Given the description of an element on the screen output the (x, y) to click on. 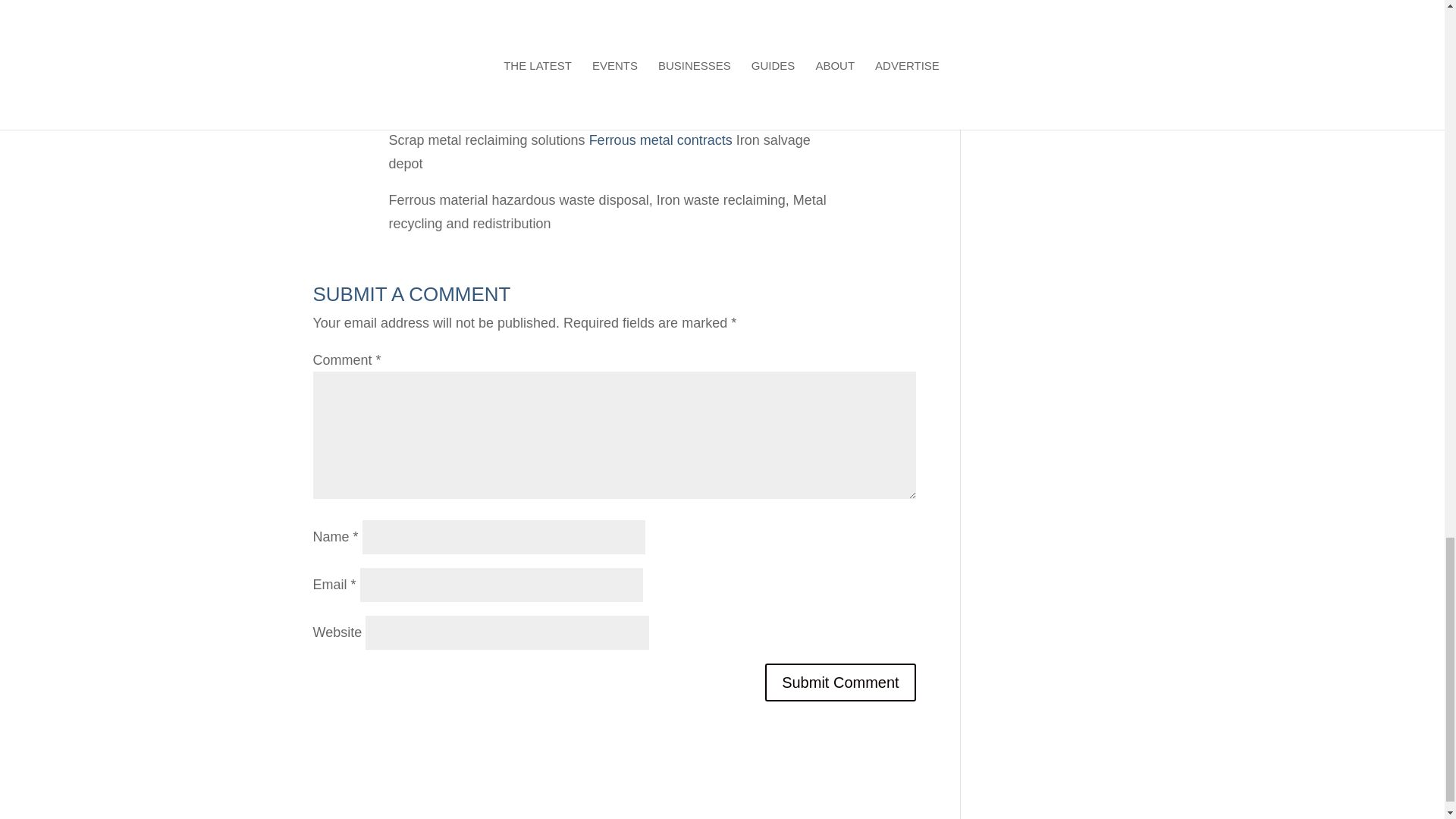
Submit Comment (840, 682)
Ferrous metal contracts (660, 140)
Iron scrap yard (432, 110)
Submit Comment (840, 682)
Ferrous metal contracts (660, 140)
